Given the description of an element on the screen output the (x, y) to click on. 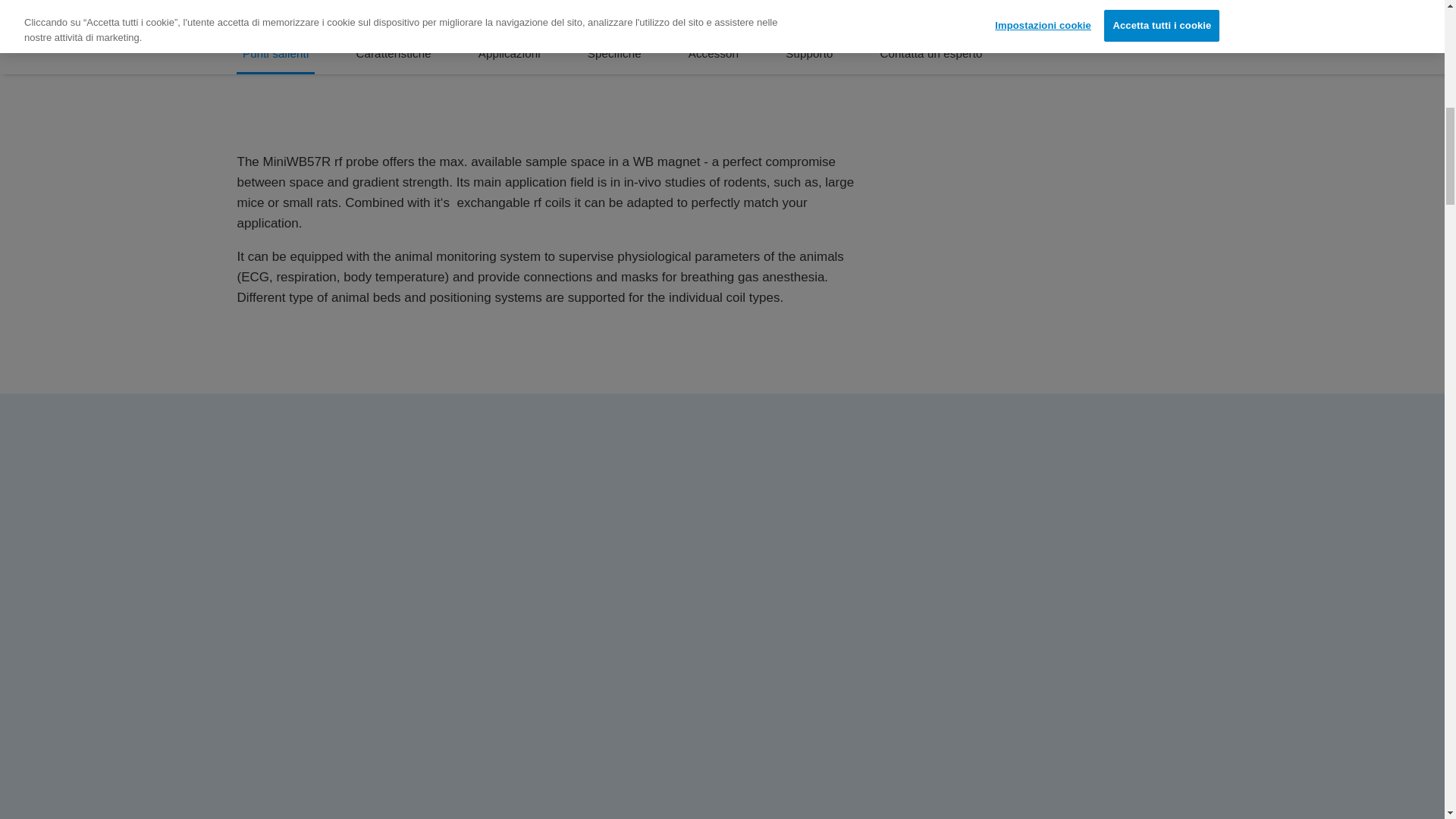
Supporto (808, 53)
Caratteristiche (392, 53)
Specifiche (613, 53)
Punti salienti (274, 53)
Applicazioni (509, 53)
Accessori (713, 53)
Contatta un esperto (931, 53)
